Given the description of an element on the screen output the (x, y) to click on. 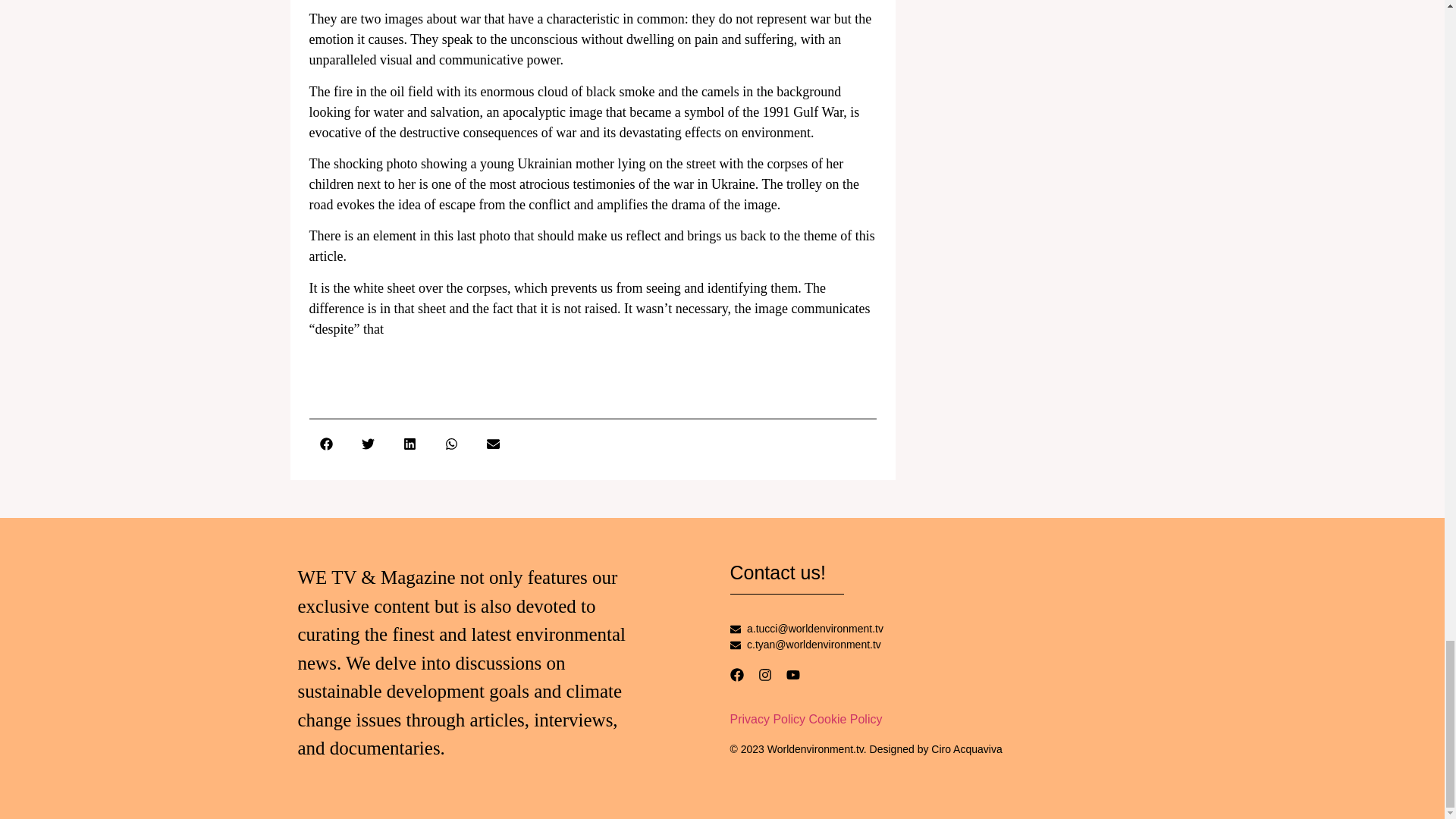
Cookie Policy  (845, 718)
Privacy Policy  (767, 718)
